Given the description of an element on the screen output the (x, y) to click on. 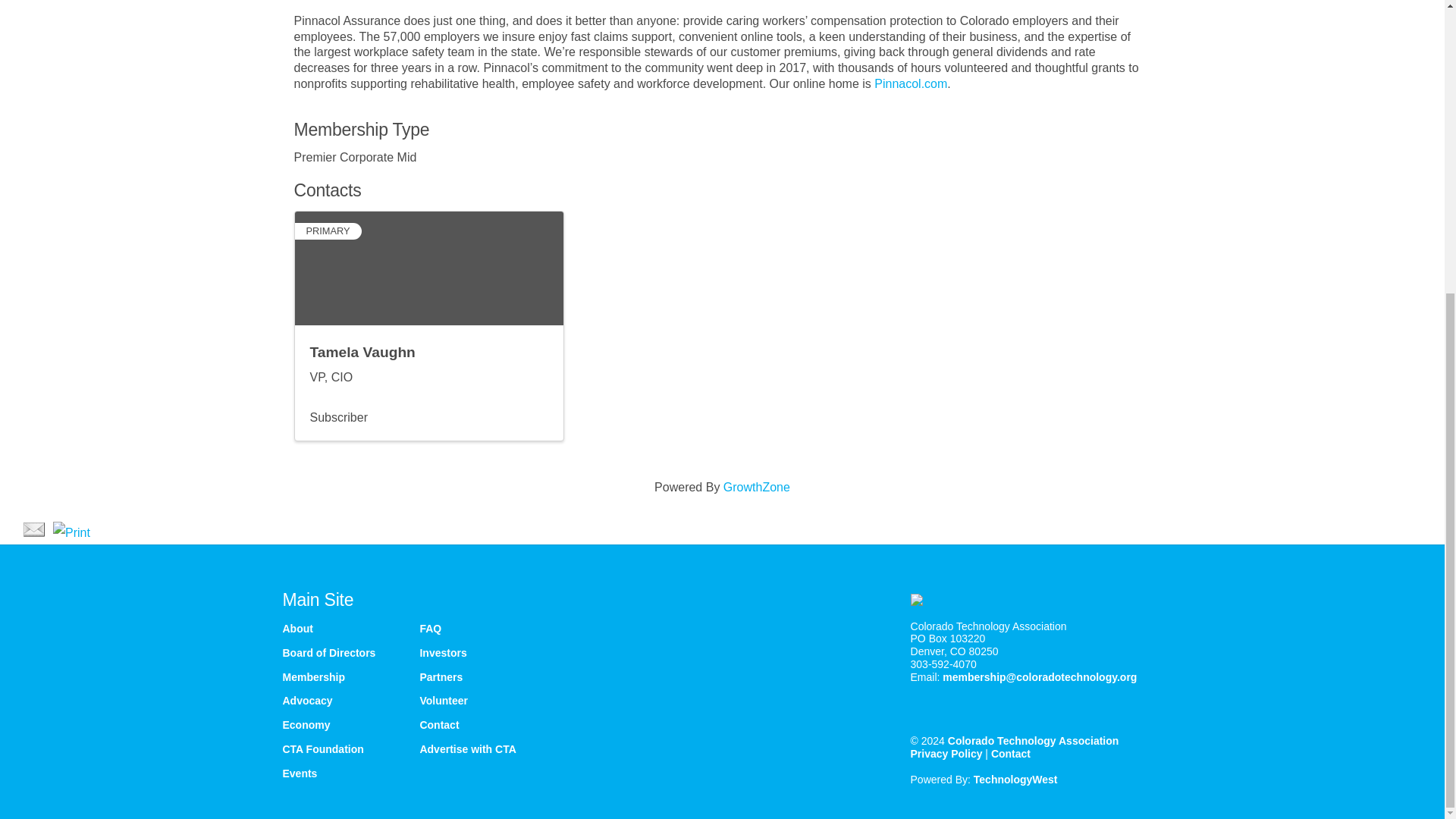
Email (34, 529)
Print (71, 532)
Pinnacol.com (911, 83)
GrowthZone (756, 486)
